Given the description of an element on the screen output the (x, y) to click on. 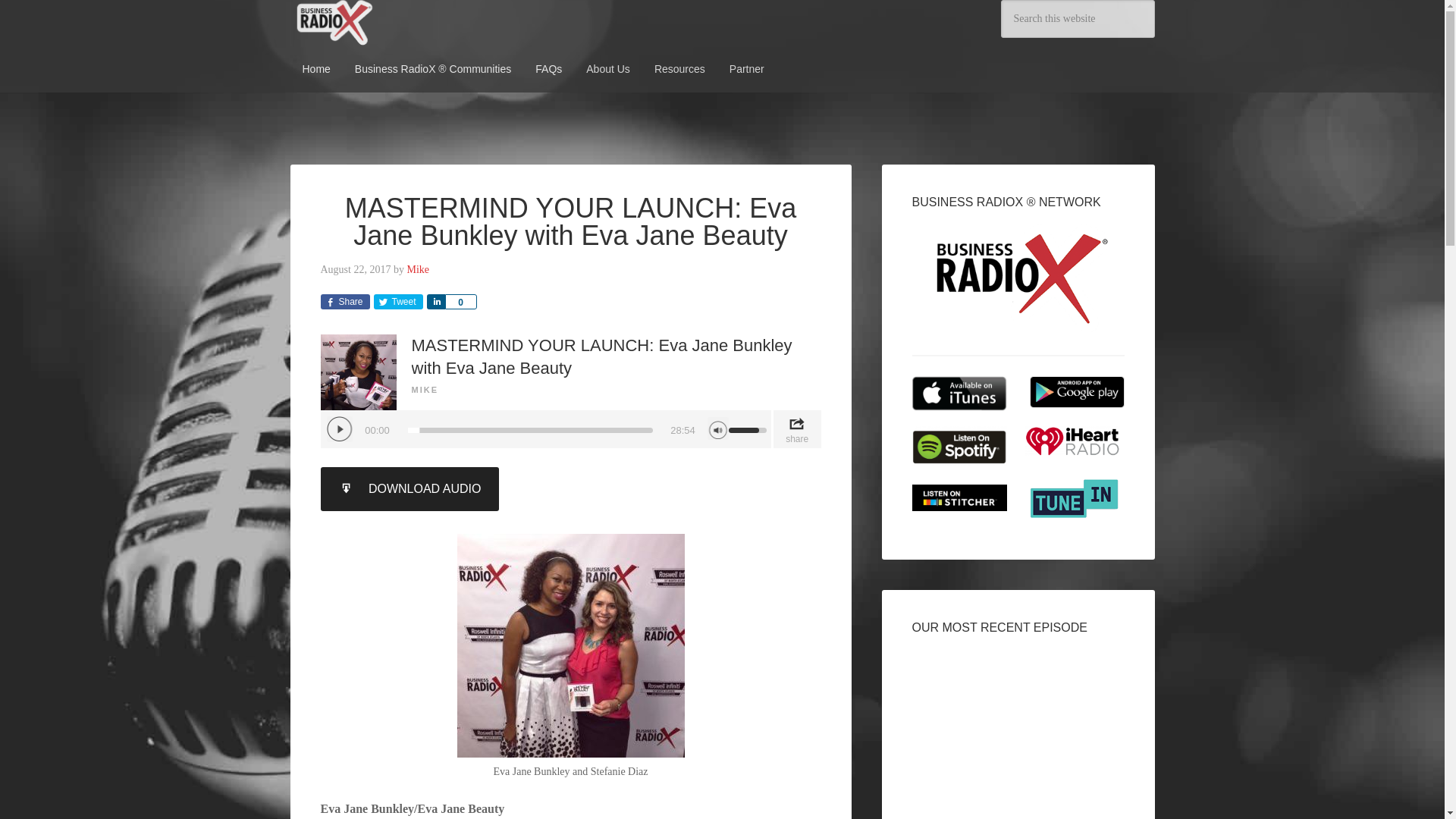
Mute (717, 427)
Home (315, 68)
Play (339, 429)
